Given the description of an element on the screen output the (x, y) to click on. 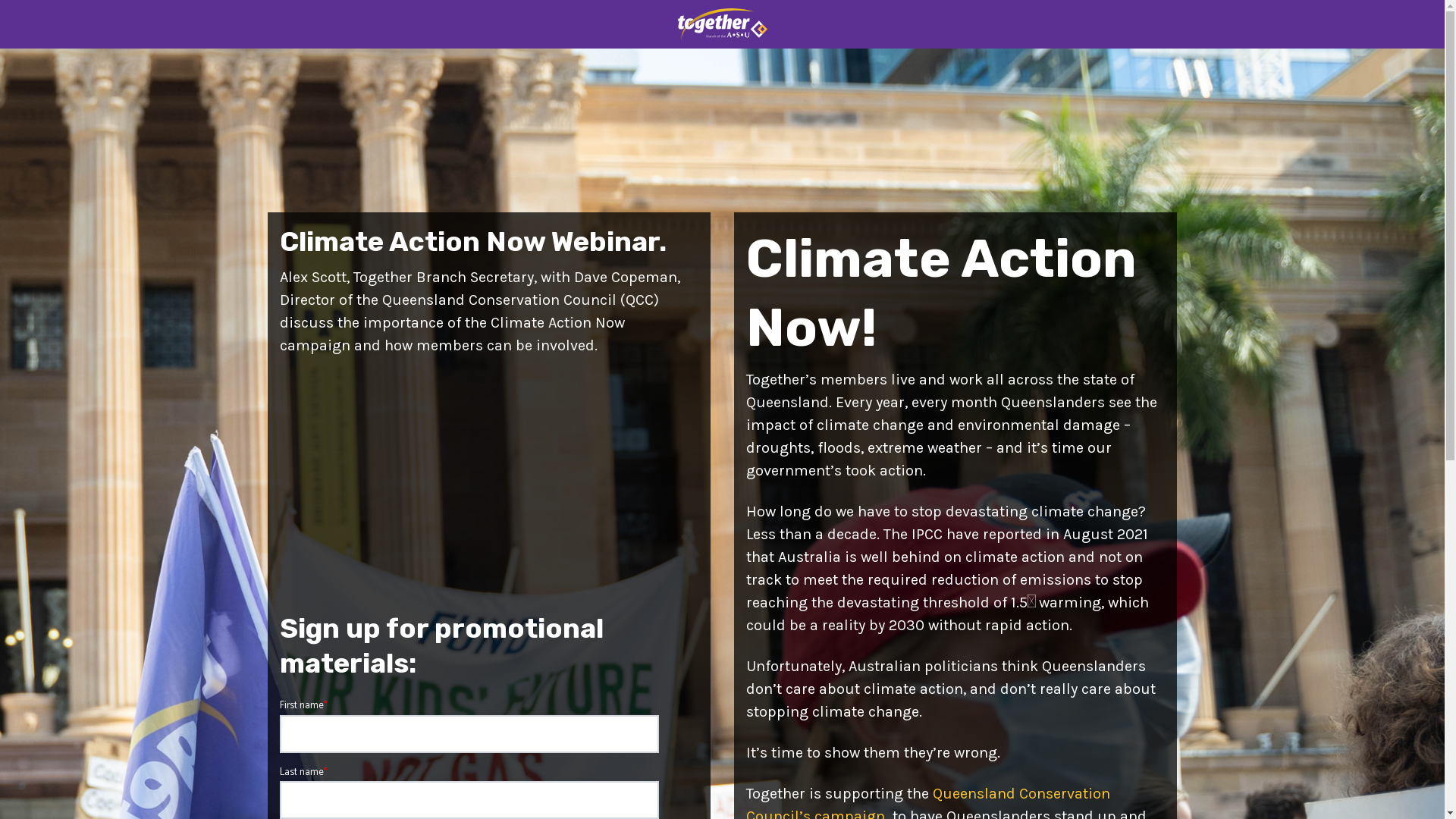
YouTube video player Element type: hover (488, 488)
Together branch of the ASU  Element type: hover (721, 23)
